Given the description of an element on the screen output the (x, y) to click on. 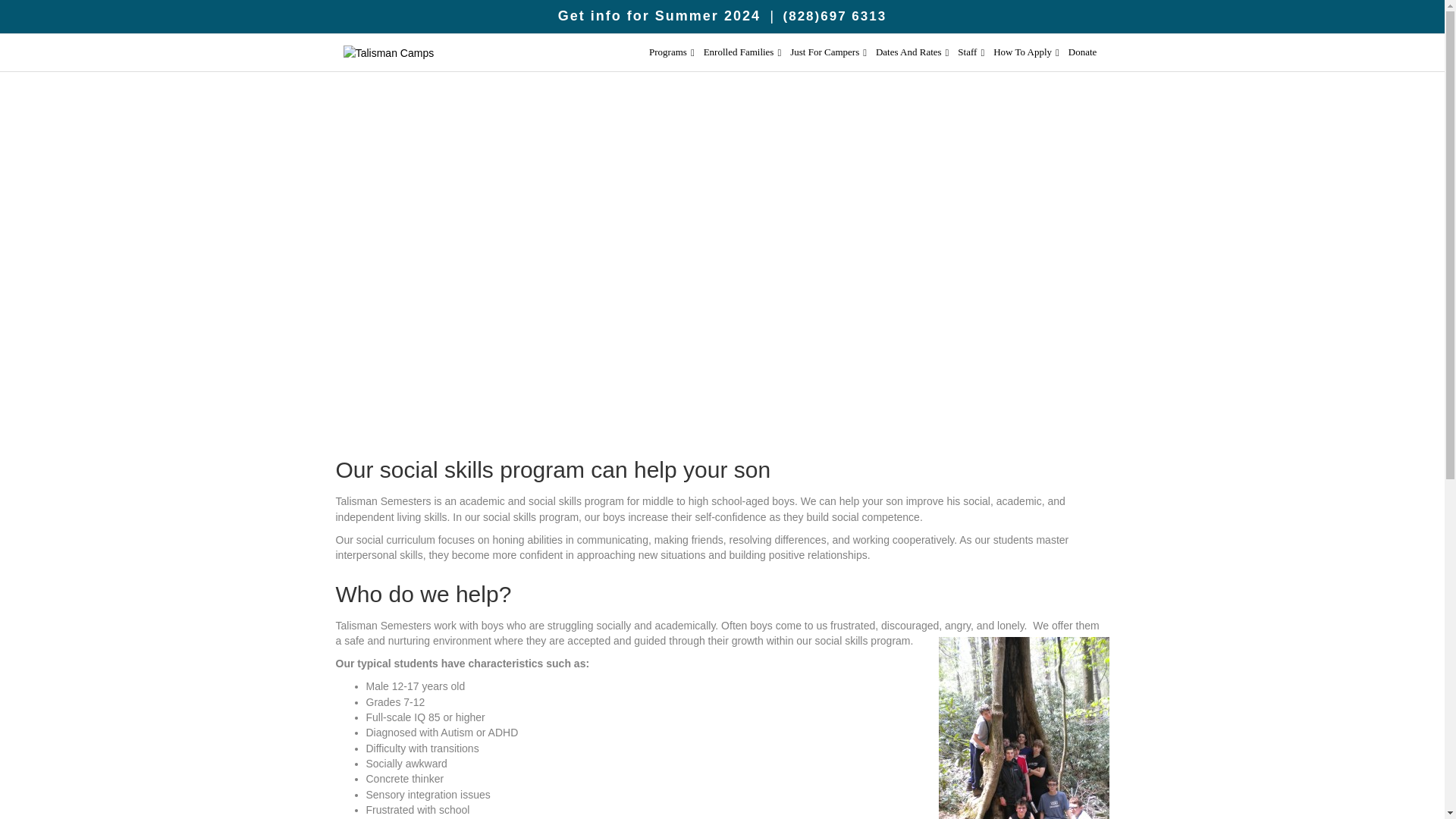
Get info for Summer 2024 (658, 15)
